Given the description of an element on the screen output the (x, y) to click on. 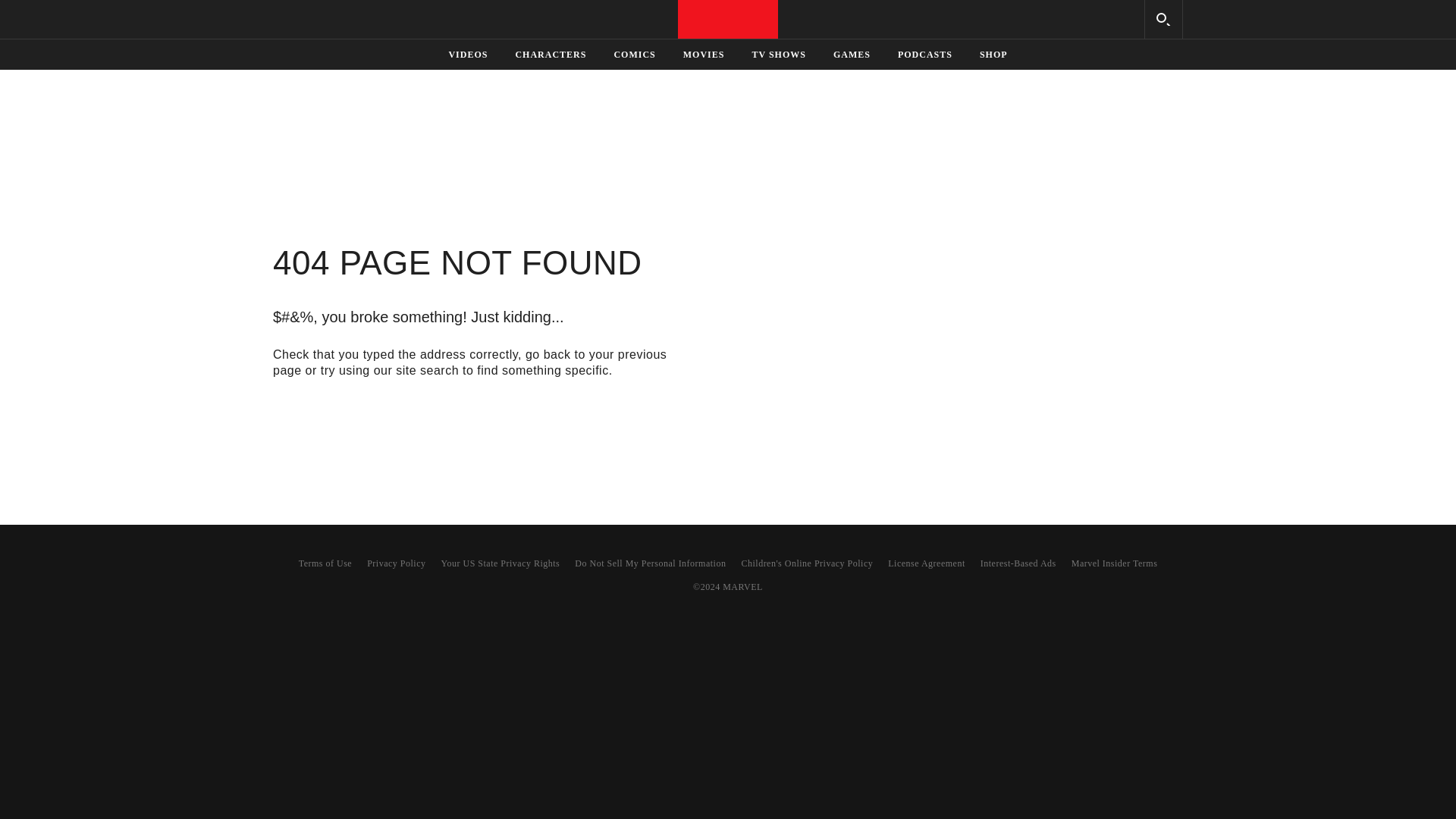
Your US State Privacy Rights (500, 562)
COMICS (633, 54)
GAMES (851, 54)
TV SHOWS (778, 54)
VIDEOS (466, 54)
MOVIES (703, 54)
Marvel Insider Terms (1114, 562)
PODCASTS (924, 54)
Privacy Policy (395, 562)
License Agreement (925, 562)
